Given the description of an element on the screen output the (x, y) to click on. 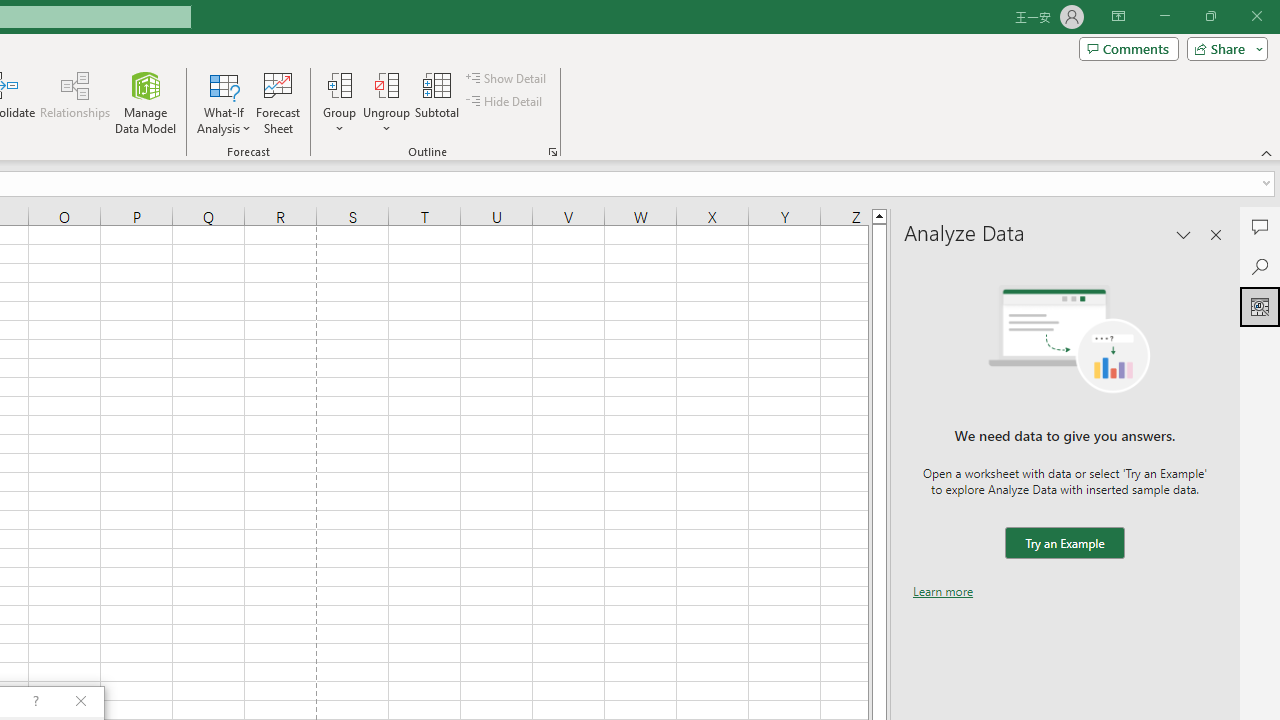
Analyze Data (1260, 306)
Forecast Sheet (278, 102)
Hide Detail (505, 101)
Search (1260, 266)
Learn more (943, 591)
